Given the description of an element on the screen output the (x, y) to click on. 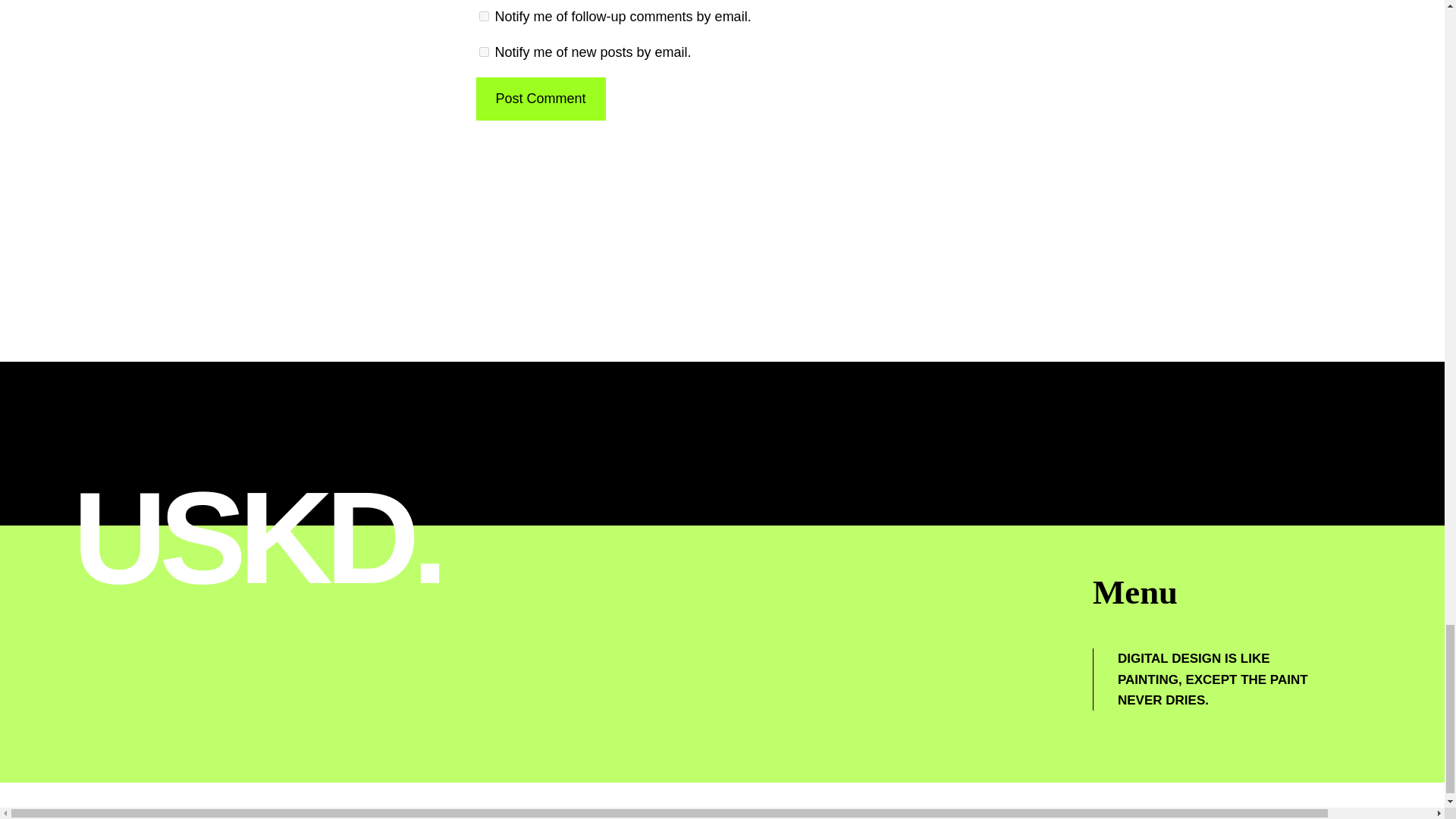
Menu (1135, 591)
subscribe (484, 16)
Post Comment (540, 98)
subscribe (484, 51)
Post Comment (540, 98)
